Given the description of an element on the screen output the (x, y) to click on. 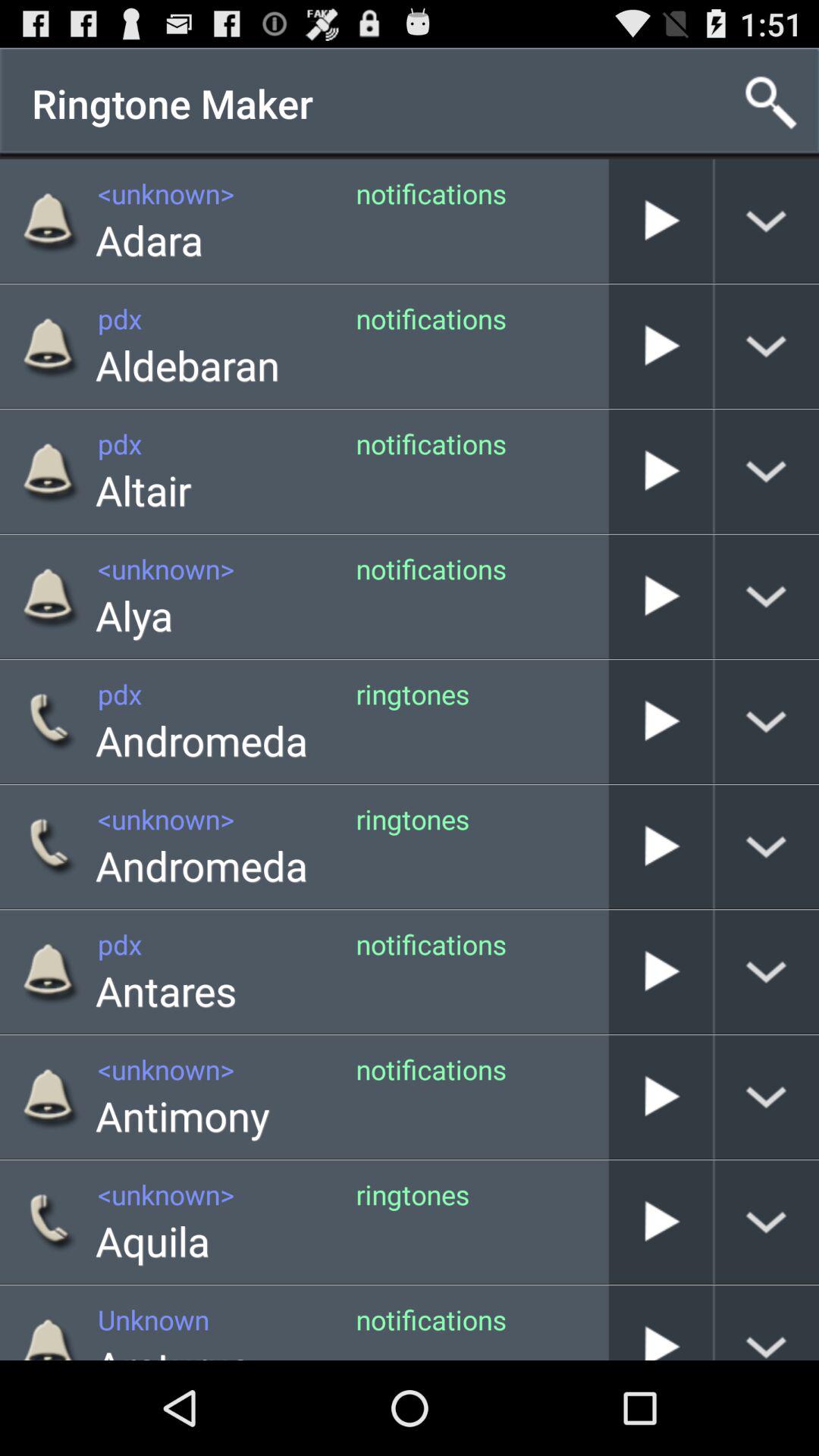
show more information (767, 1222)
